Given the description of an element on the screen output the (x, y) to click on. 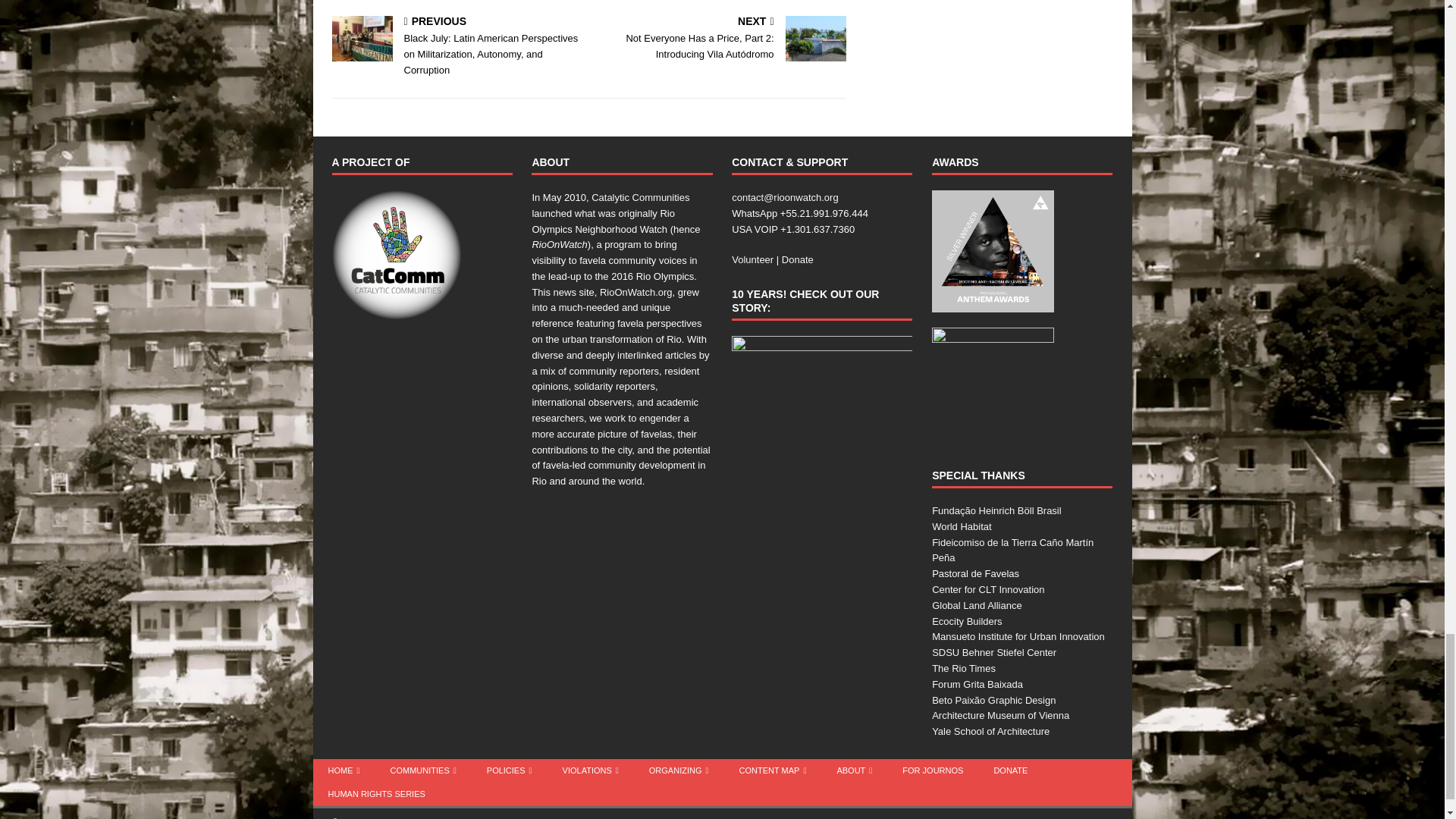
Comunidades Catalisadoras (396, 254)
